Given the description of an element on the screen output the (x, y) to click on. 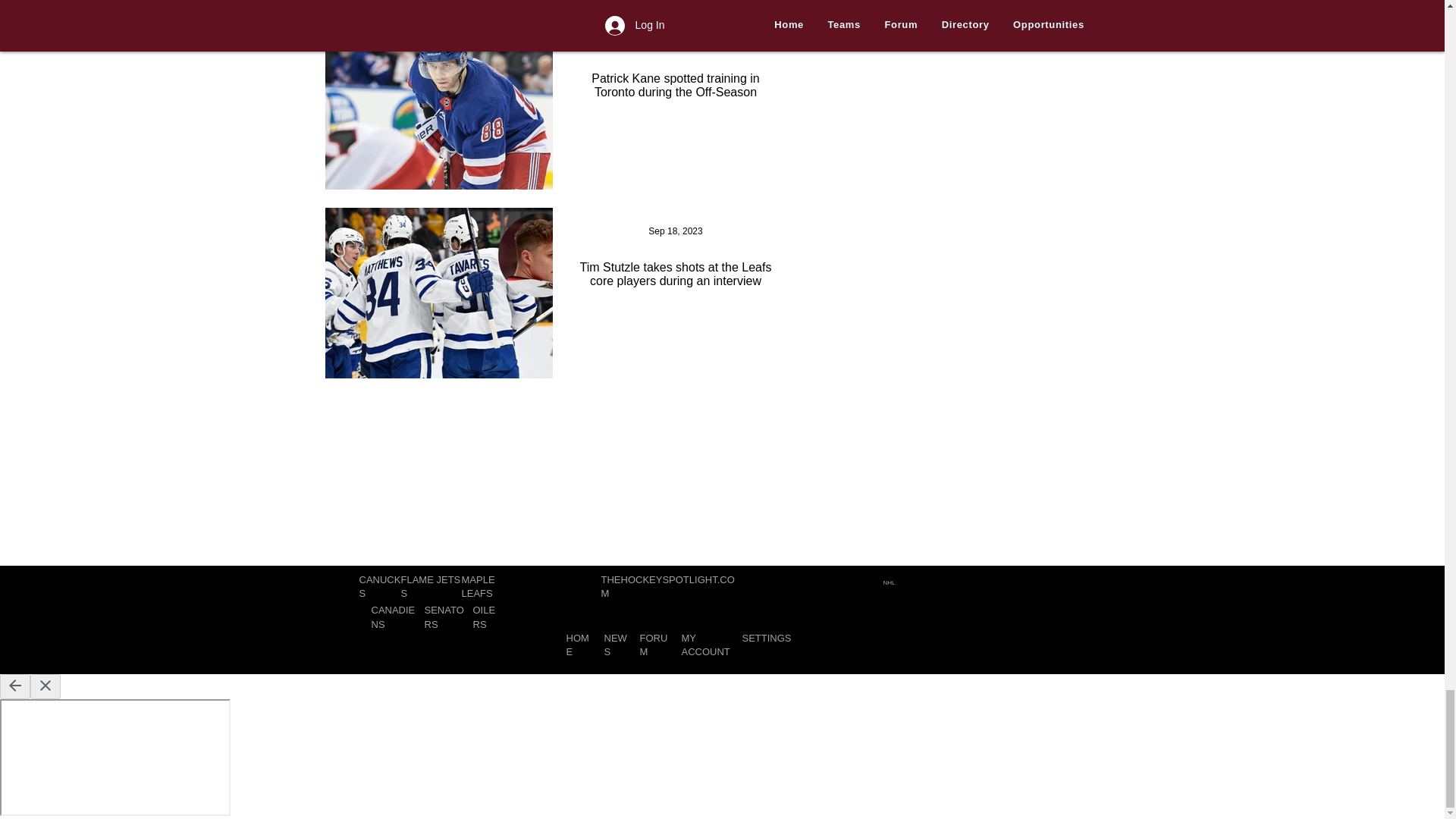
Sep 22, 2023 (674, 41)
Sep 18, 2023 (674, 231)
